Given the description of an element on the screen output the (x, y) to click on. 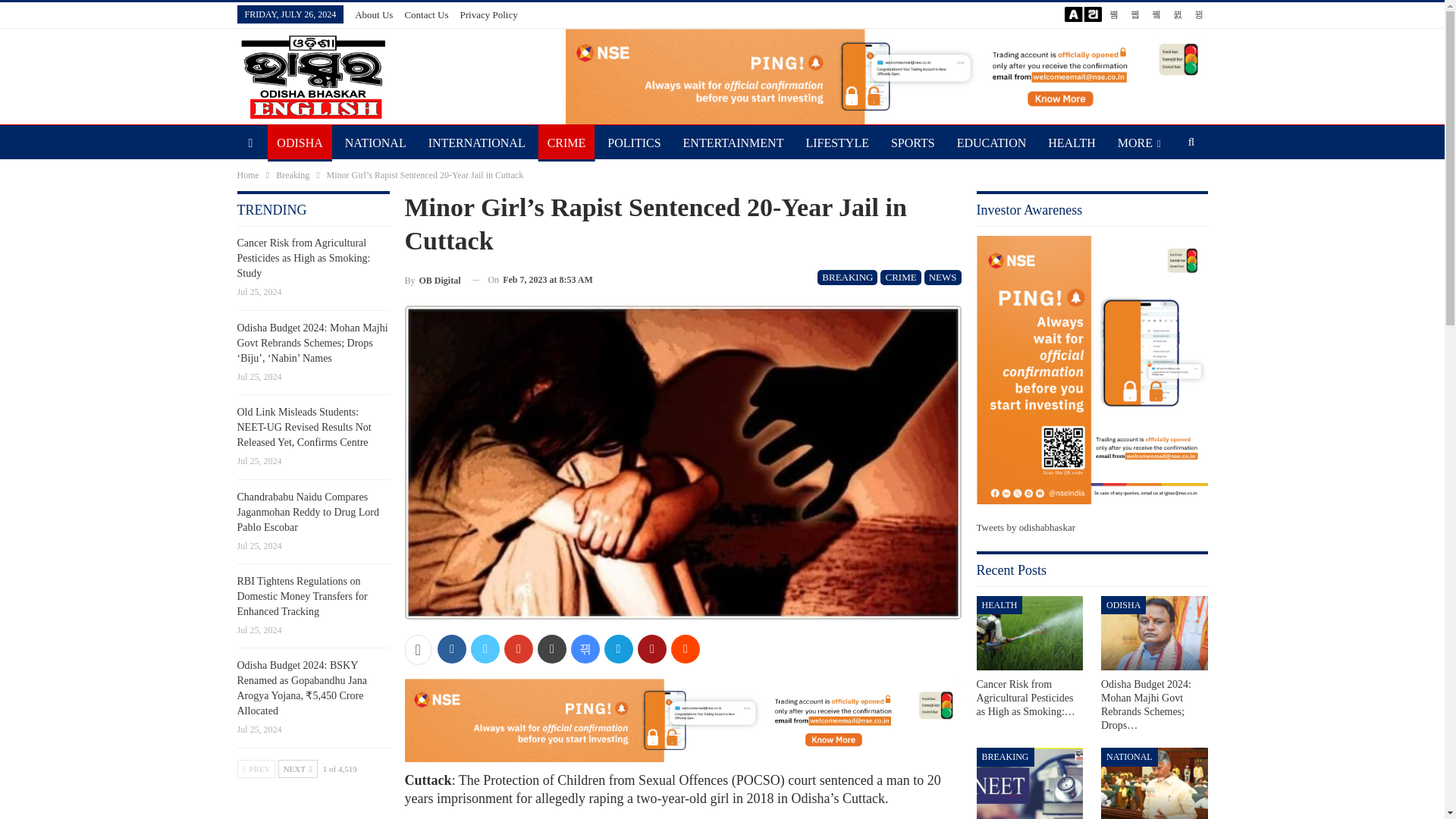
ODISHA (299, 143)
LIFESTYLE (836, 143)
SPORTS (912, 143)
BREAKING (846, 277)
Contact Us (426, 14)
INTERNATIONAL (476, 143)
CRIME (900, 277)
ENTERTAINMENT (733, 143)
NEWS (942, 277)
About Us (374, 14)
Browse Author Articles (432, 280)
Home (247, 175)
MORE (1139, 143)
NATIONAL (375, 143)
By OB Digital (432, 280)
